Given the description of an element on the screen output the (x, y) to click on. 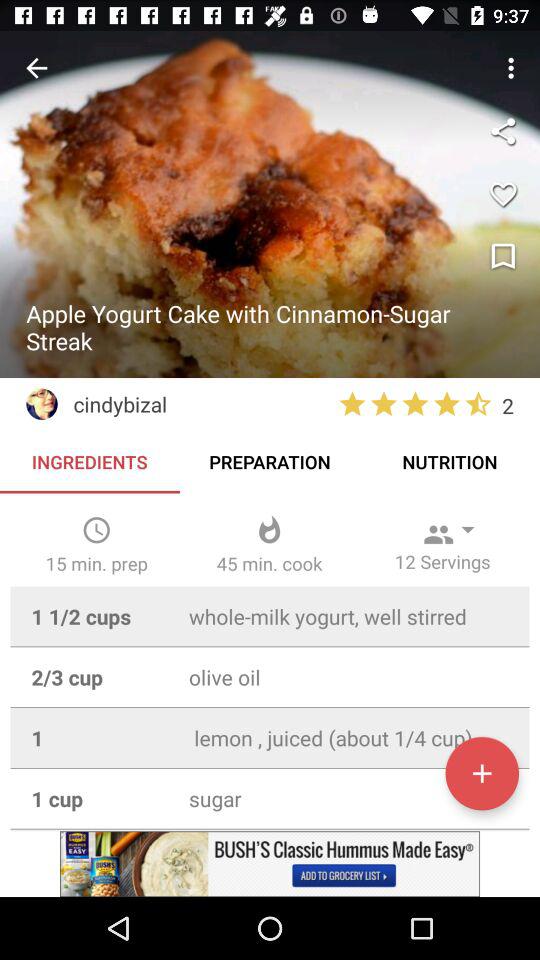
share recipe (503, 131)
